Given the description of an element on the screen output the (x, y) to click on. 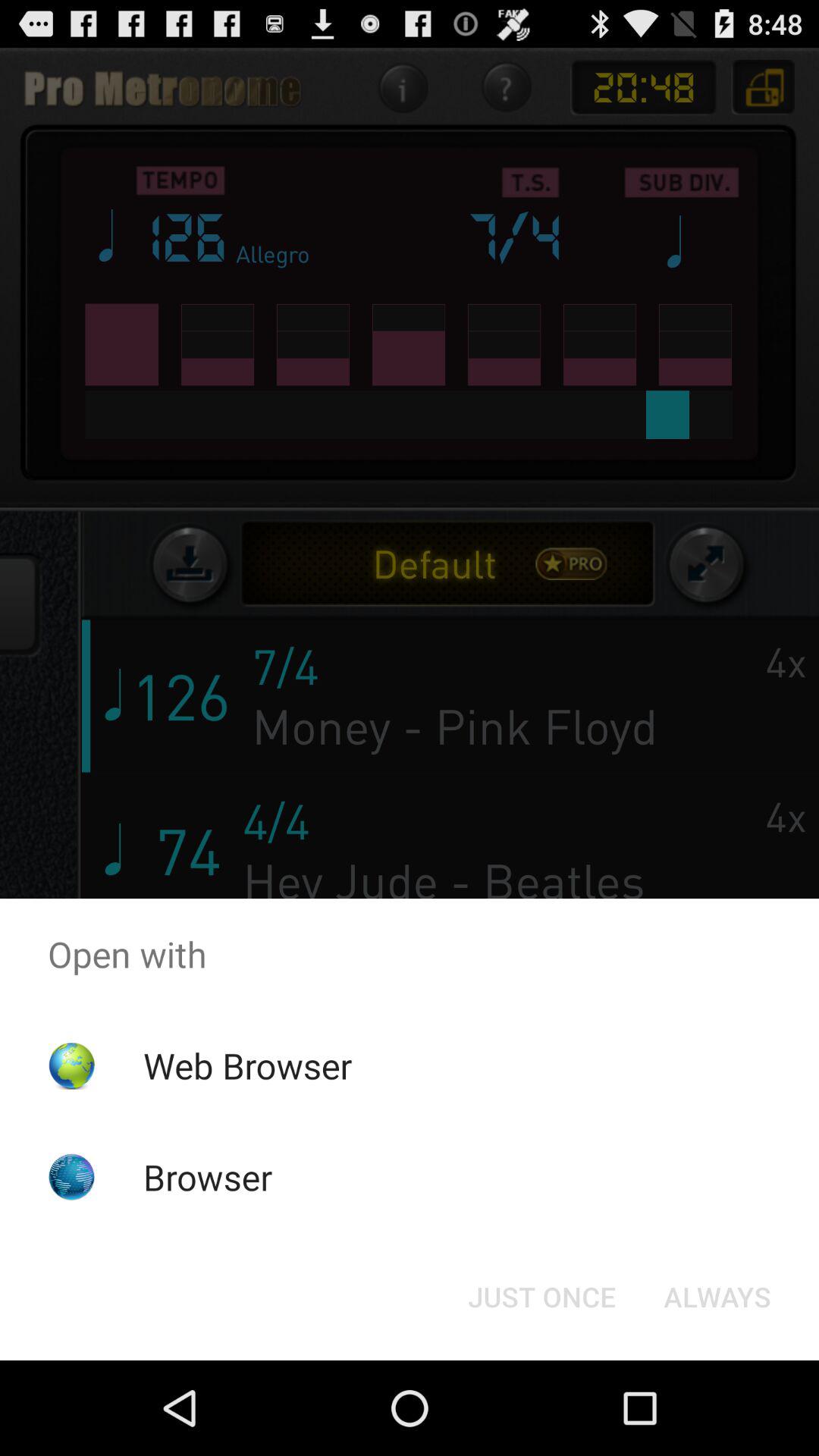
swipe to just once (541, 1296)
